Given the description of an element on the screen output the (x, y) to click on. 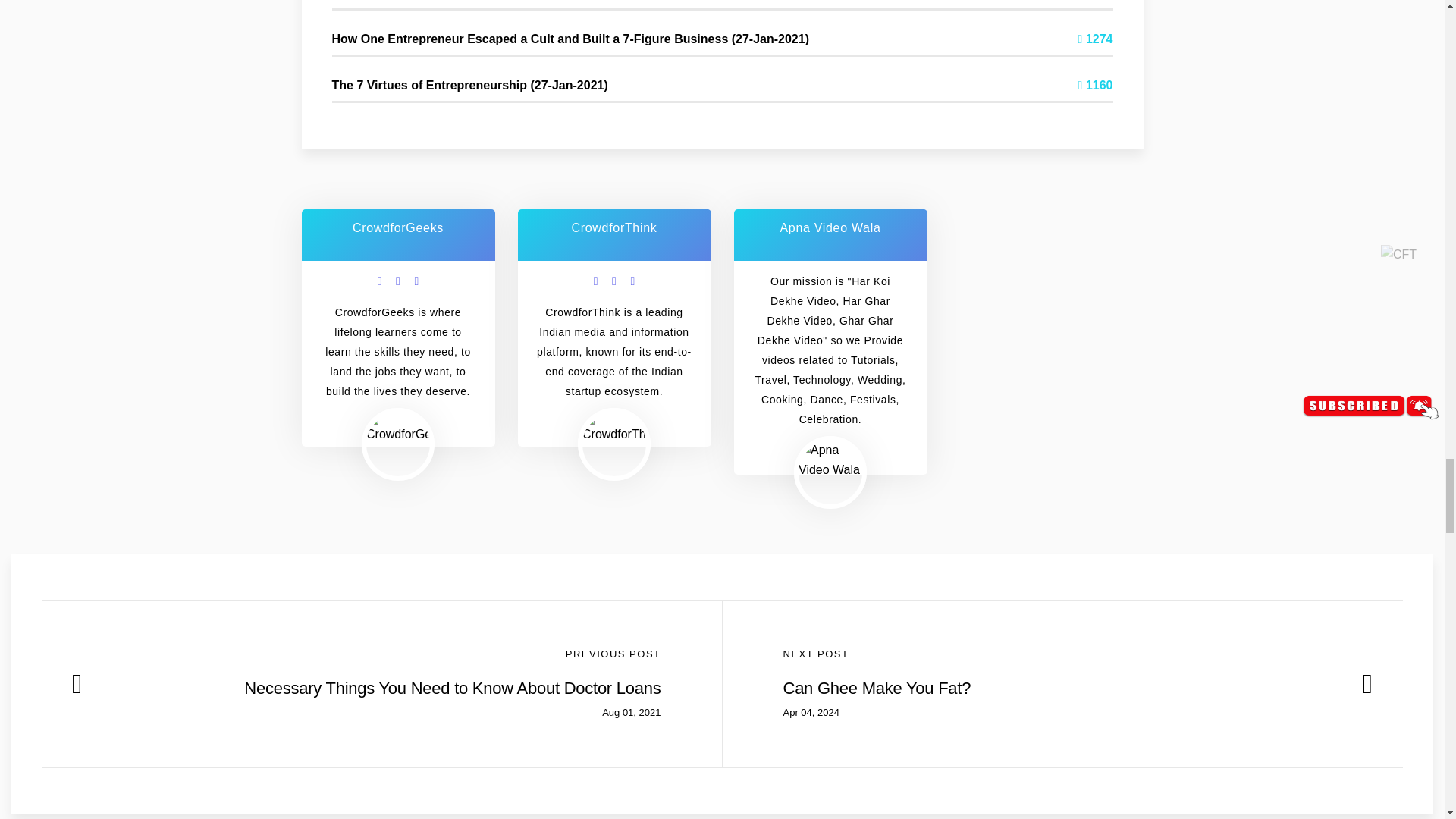
CrowdforGeeks (397, 428)
Apna Video Wala (829, 459)
CrowdforThink (614, 428)
